Given the description of an element on the screen output the (x, y) to click on. 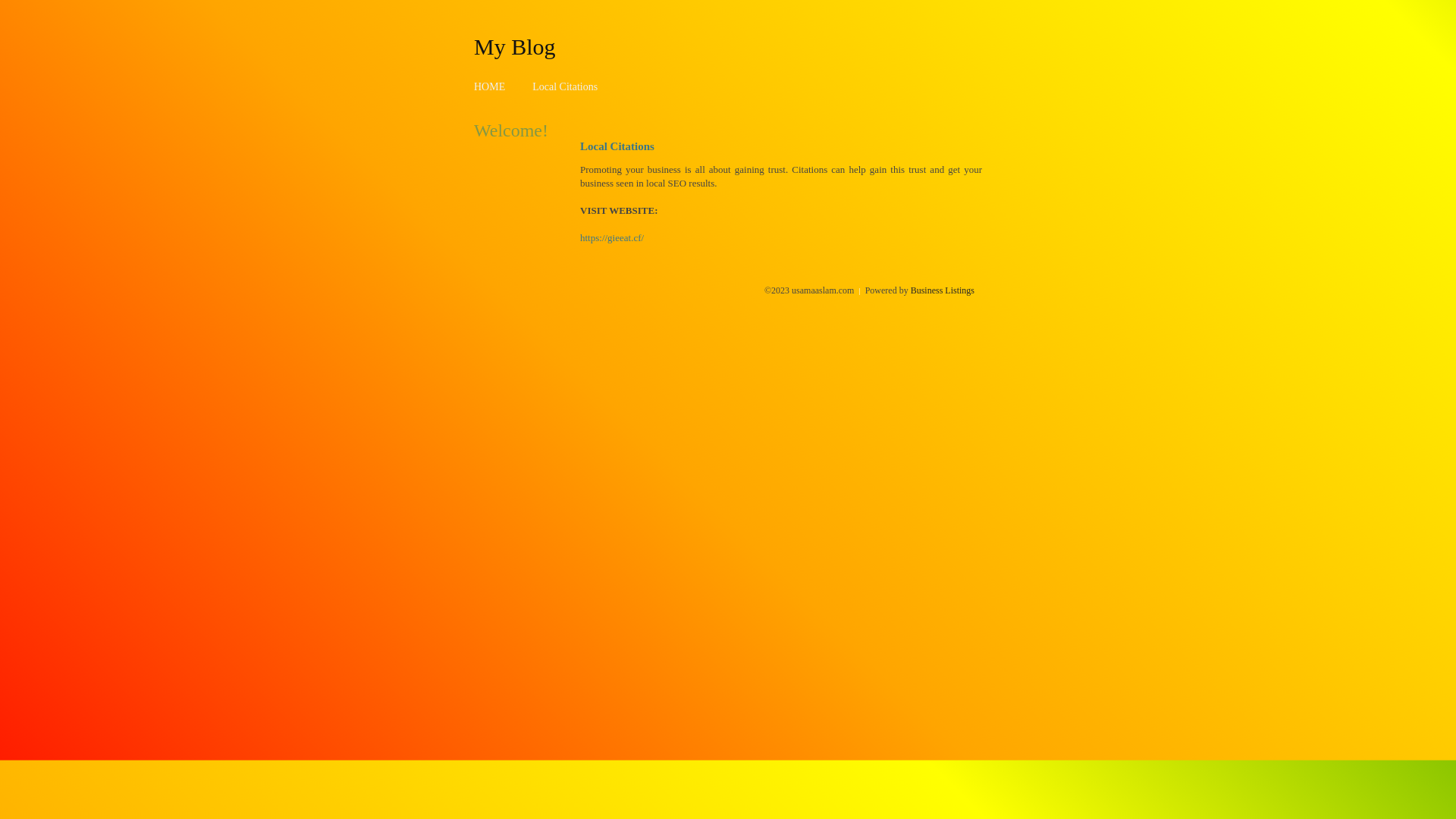
https://gieeat.cf/ Element type: text (611, 237)
Business Listings Element type: text (942, 290)
Local Citations Element type: text (564, 86)
My Blog Element type: text (514, 46)
HOME Element type: text (489, 86)
